Given the description of an element on the screen output the (x, y) to click on. 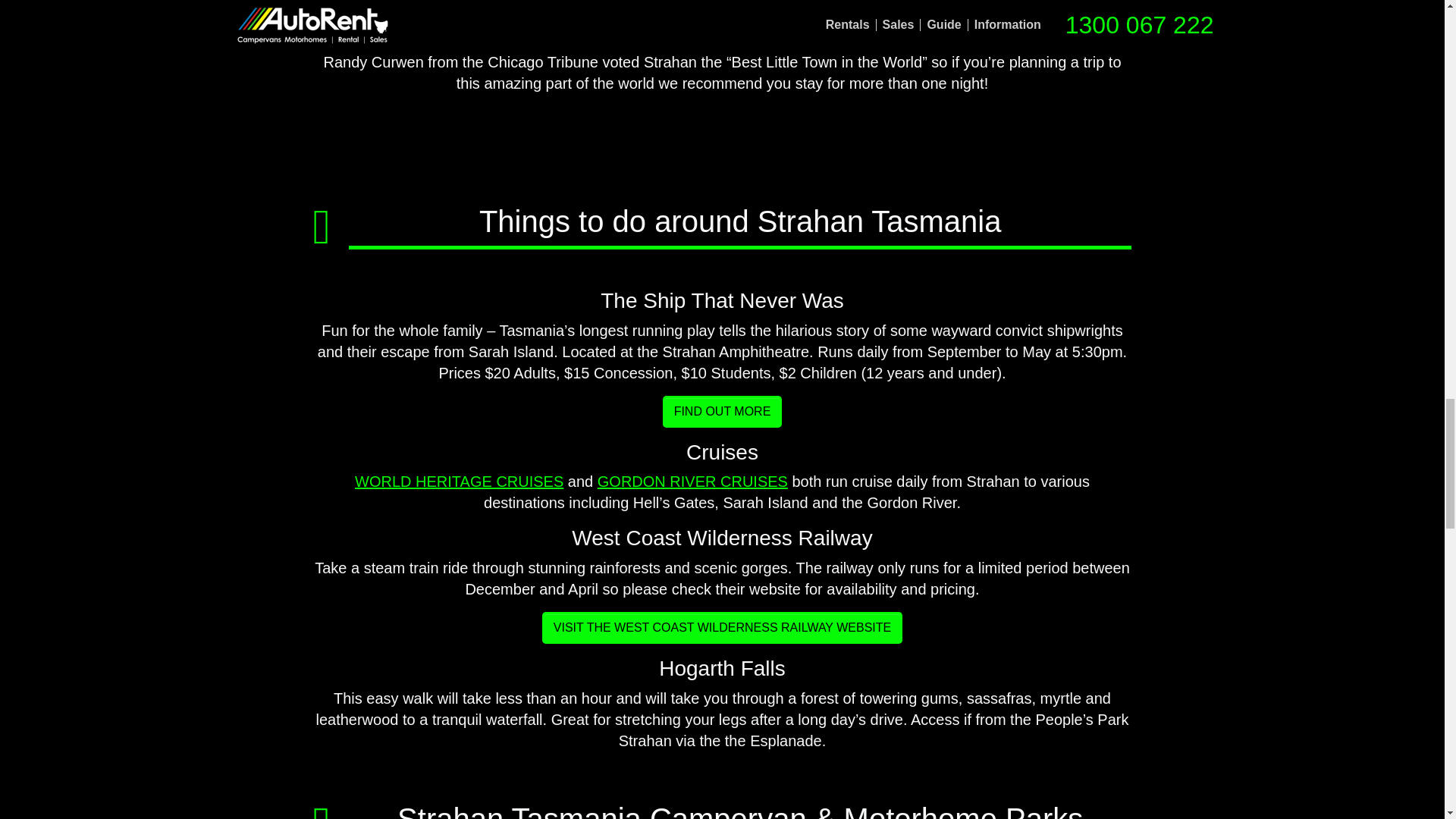
VISIT THE WEST COAST WILDERNESS RAILWAY WEBSITE (721, 627)
FIND OUT MORE (722, 411)
GORDON RIVER CRUISES (691, 481)
WORLD HERITAGE CRUISES (459, 481)
